Given the description of an element on the screen output the (x, y) to click on. 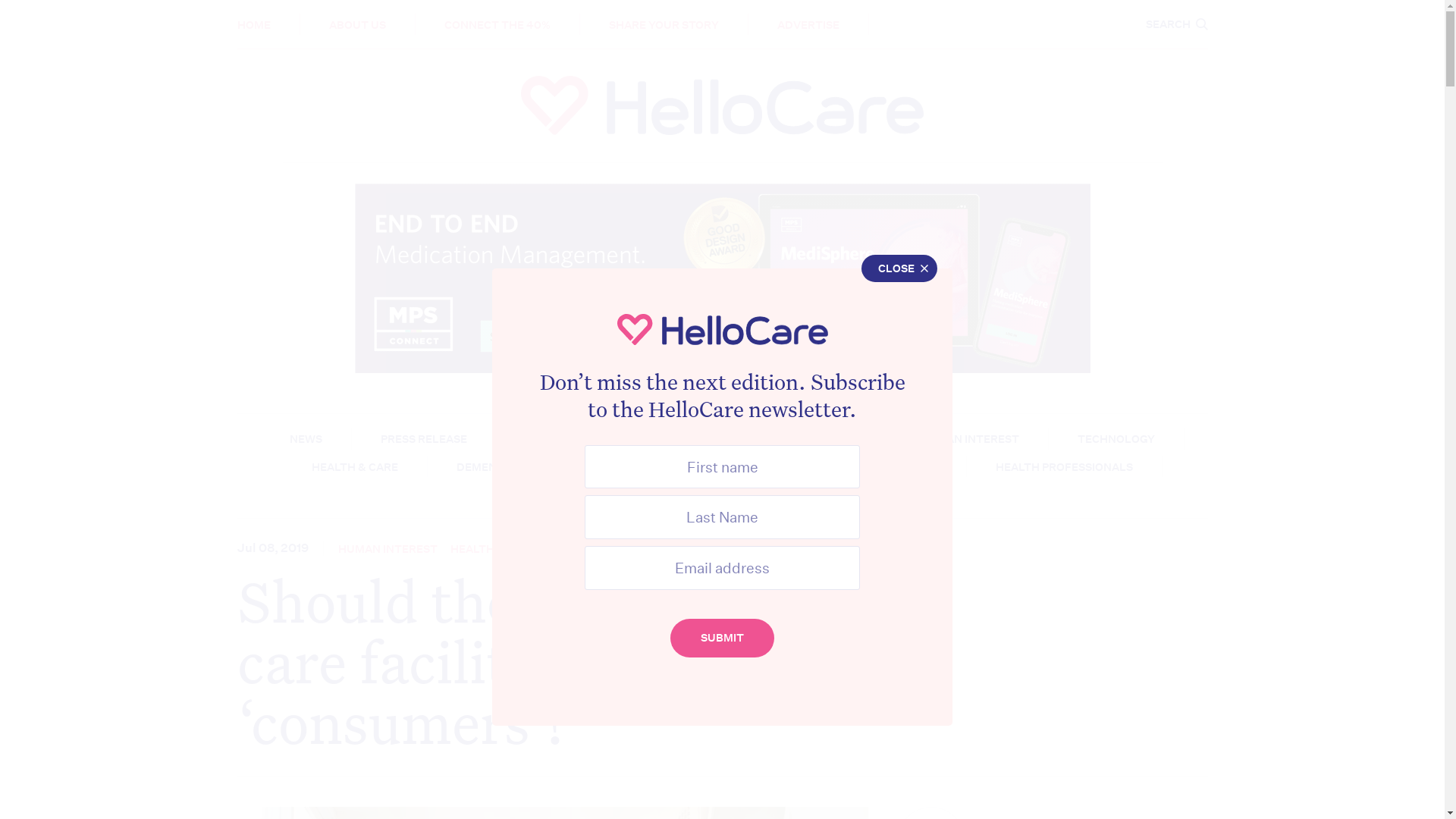
CONNECT THE 40% Element type: text (497, 24)
HUMAN INTEREST Element type: text (387, 548)
PRESS RELEASE Element type: text (423, 438)
HOME Element type: text (252, 24)
TECHNOLOGY Element type: text (1115, 438)
ABOUT US Element type: text (357, 24)
OPINION Element type: text (837, 438)
HUMAN INTEREST Element type: text (968, 438)
EDUCATION Element type: text (798, 14)
Submit Element type: text (722, 637)
PALLIATIVE CARE Element type: text (660, 494)
ASK AN EXPERT Element type: text (725, 466)
ROYAL COMMISSION Element type: text (881, 466)
SHARE YOUR STORY Element type: text (663, 24)
HEALTH & CARE Element type: text (493, 548)
HEALTH PROFESSIONALS Element type: text (1063, 466)
CLOSE Element type: text (899, 268)
WISDOM WEDNESDAY Element type: text (696, 438)
NEWS Element type: text (305, 438)
PALLIATIVE CARE Element type: text (660, 14)
COVID-19 Element type: text (598, 466)
SEARCH Element type: text (1176, 24)
SPONSOR Element type: text (550, 438)
HEALTH & CARE Element type: text (353, 466)
DEMENTIA Element type: text (485, 466)
ADVERTISE Element type: text (807, 24)
EDUCATION Element type: text (798, 494)
